Given the description of an element on the screen output the (x, y) to click on. 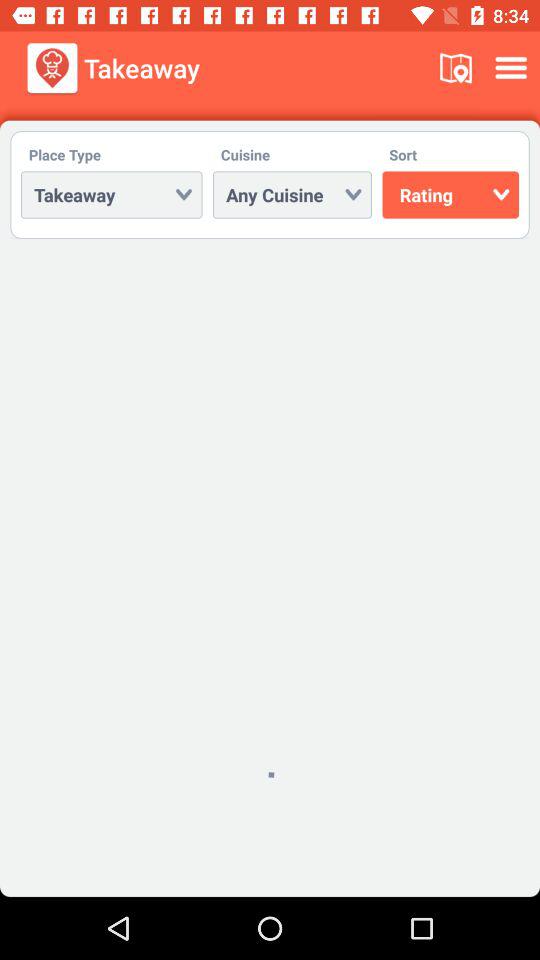
select the icon left to menu button (456, 68)
click on takeaway (112, 194)
click on rating (450, 194)
select the icon which is left side of the takeaway in orange background (52, 68)
select the drop down under cuisine (292, 194)
click on takeaway below place type (112, 194)
click the dropdown next to takeway (292, 194)
click on more settings (514, 68)
click on the icon next to takeaway (456, 68)
